Given the description of an element on the screen output the (x, y) to click on. 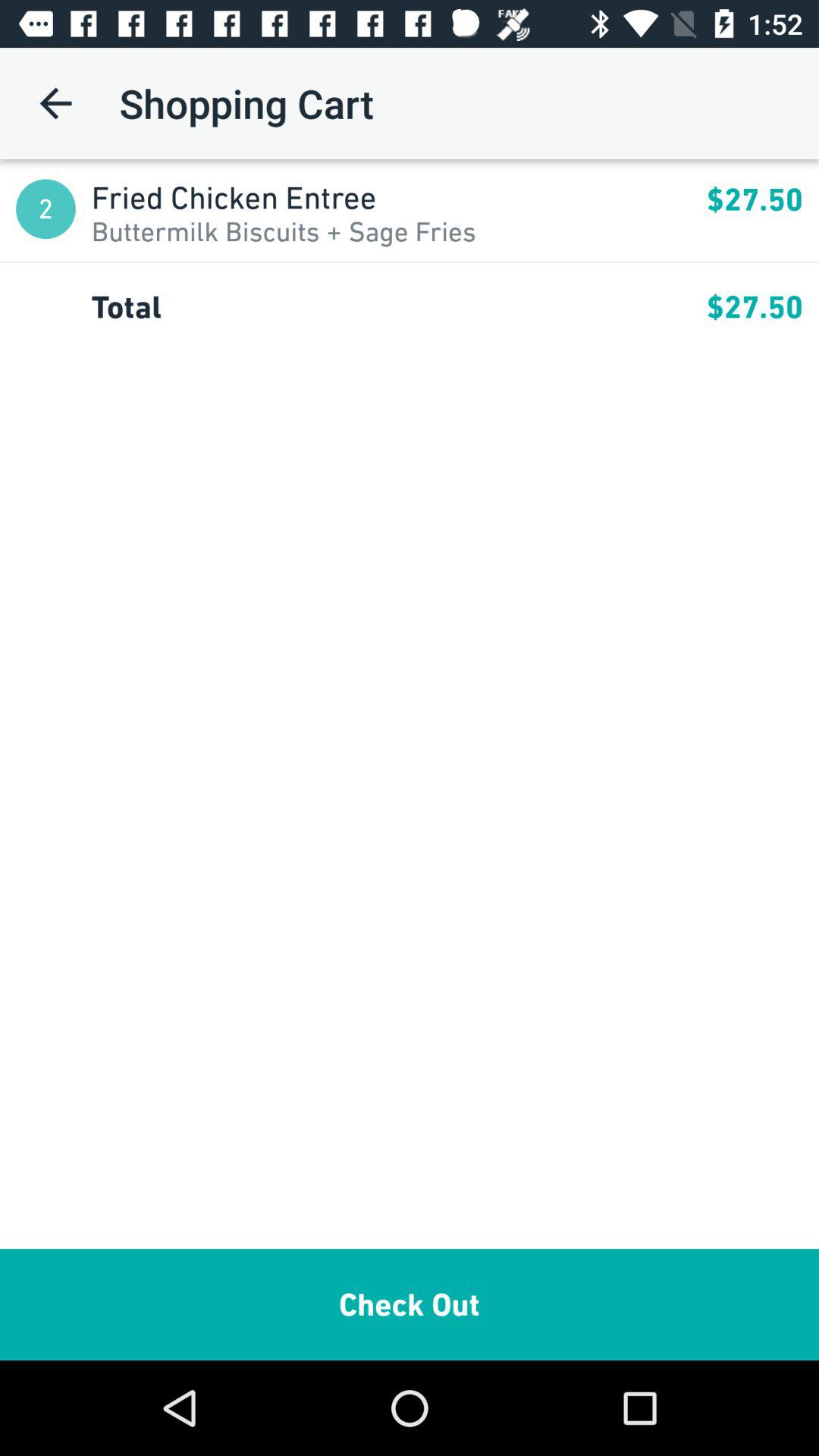
turn on the app next to the fried chicken entree app (45, 208)
